Given the description of an element on the screen output the (x, y) to click on. 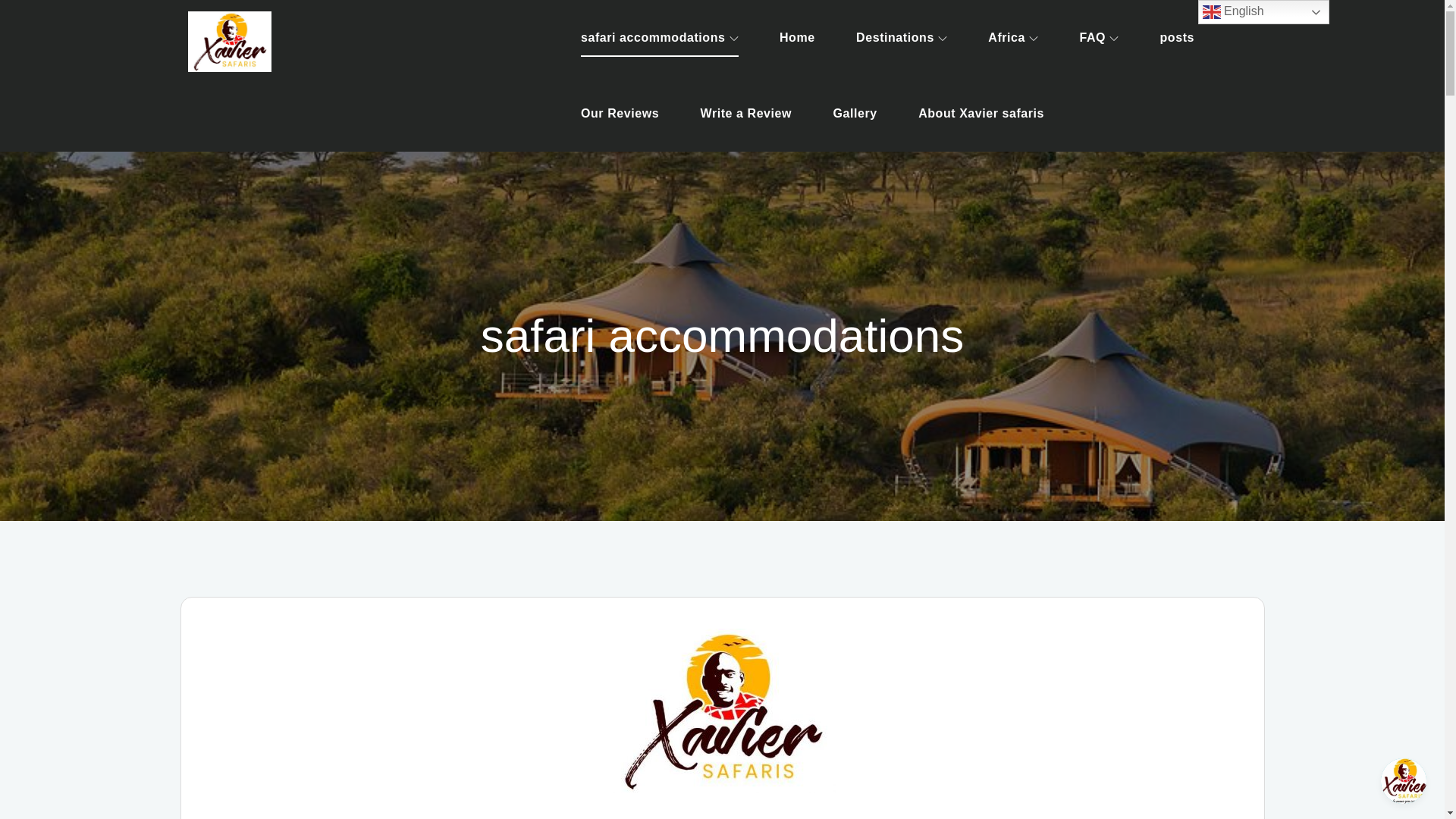
Destinations (901, 38)
Xavier Safaris (391, 61)
safari accommodations (659, 38)
